Given the description of an element on the screen output the (x, y) to click on. 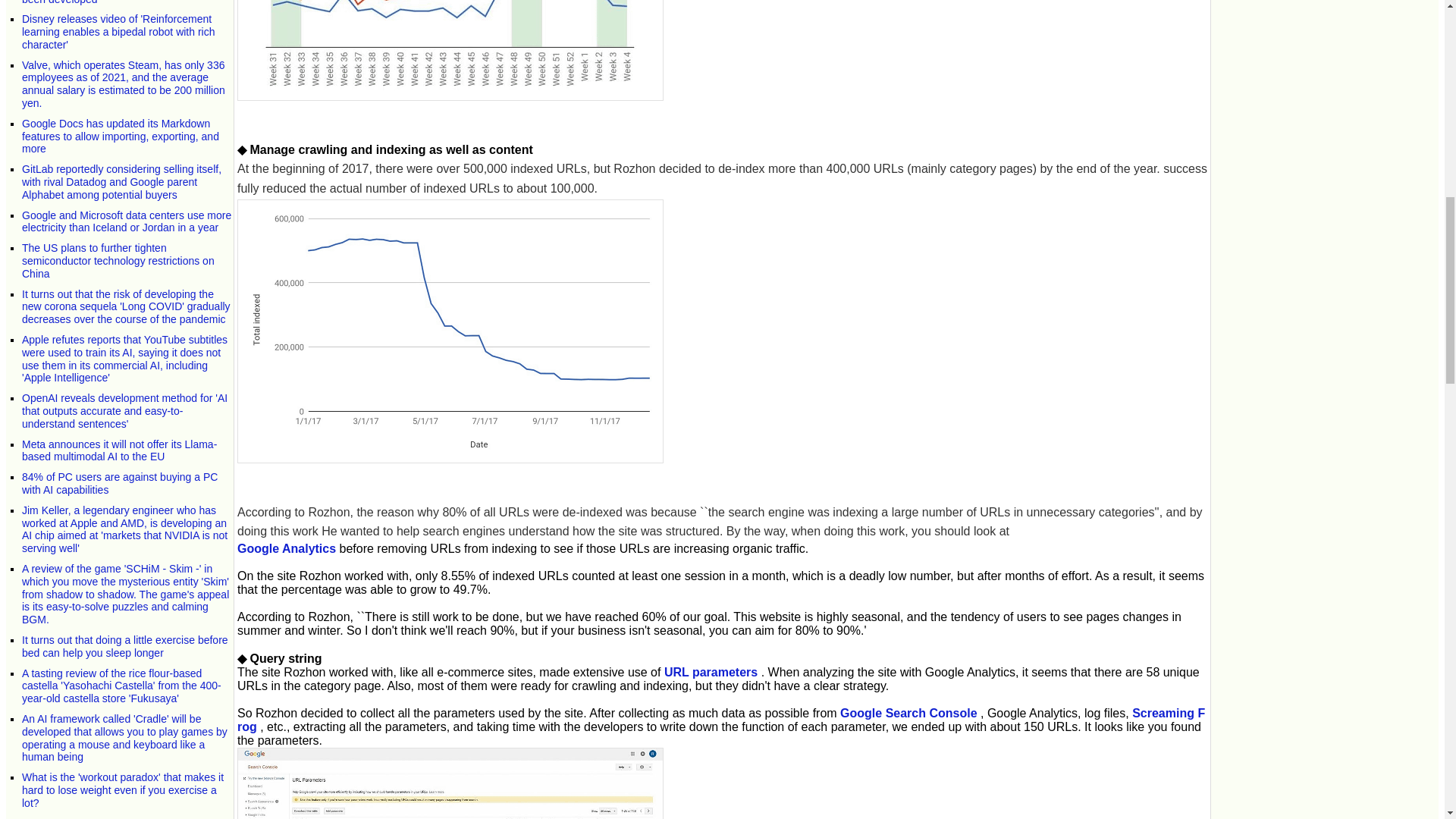
Google Analytics (286, 548)
Google Search Console (908, 712)
Screaming Frog (721, 719)
URL parameters (710, 671)
